Given the description of an element on the screen output the (x, y) to click on. 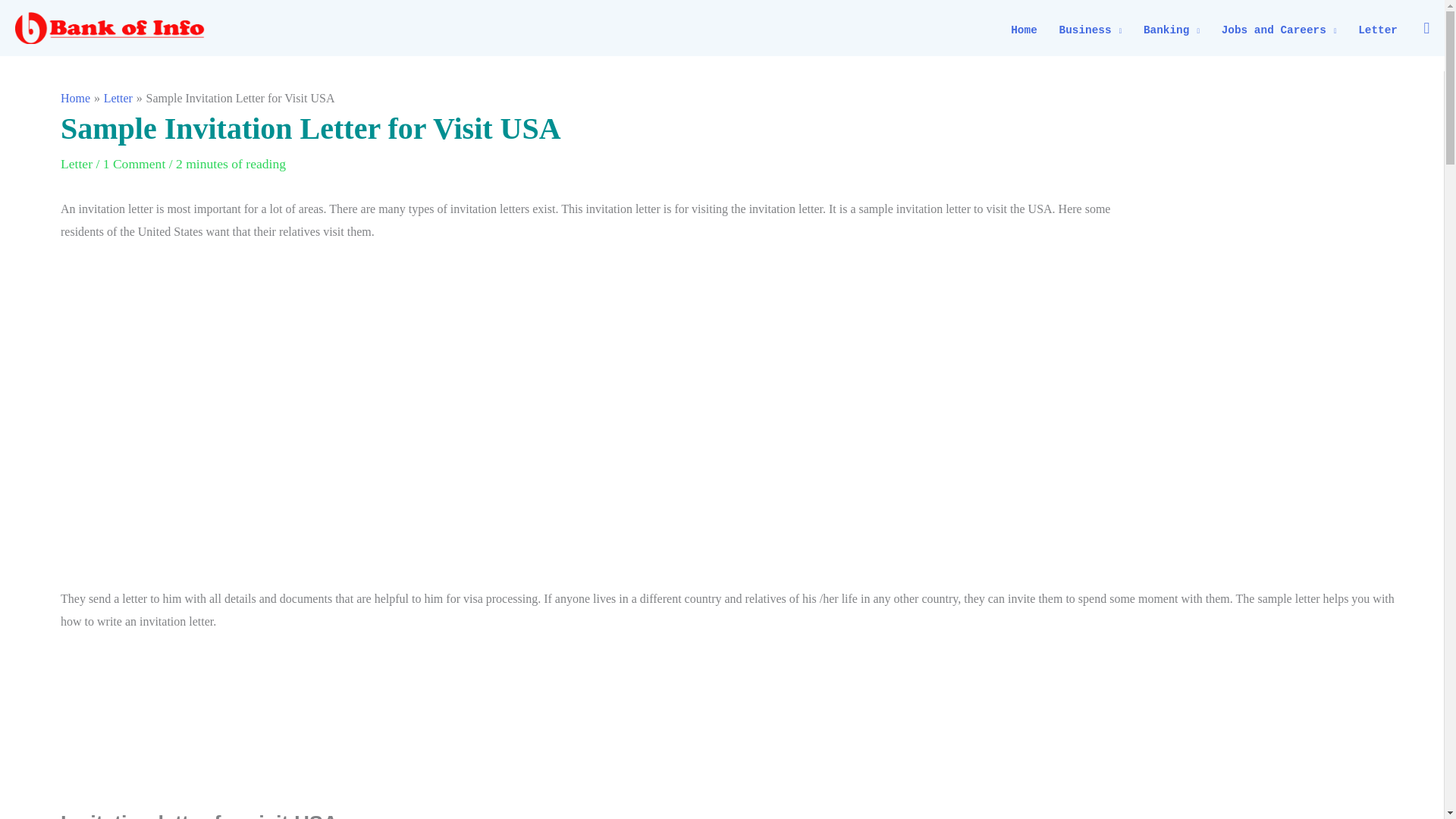
Jobs and Careers (1277, 30)
Banking (1171, 30)
Advertisement (736, 505)
Advertisement (1285, 309)
Letter (1378, 30)
Advertisement (736, 727)
Home (1024, 30)
Business (1090, 30)
